Given the description of an element on the screen output the (x, y) to click on. 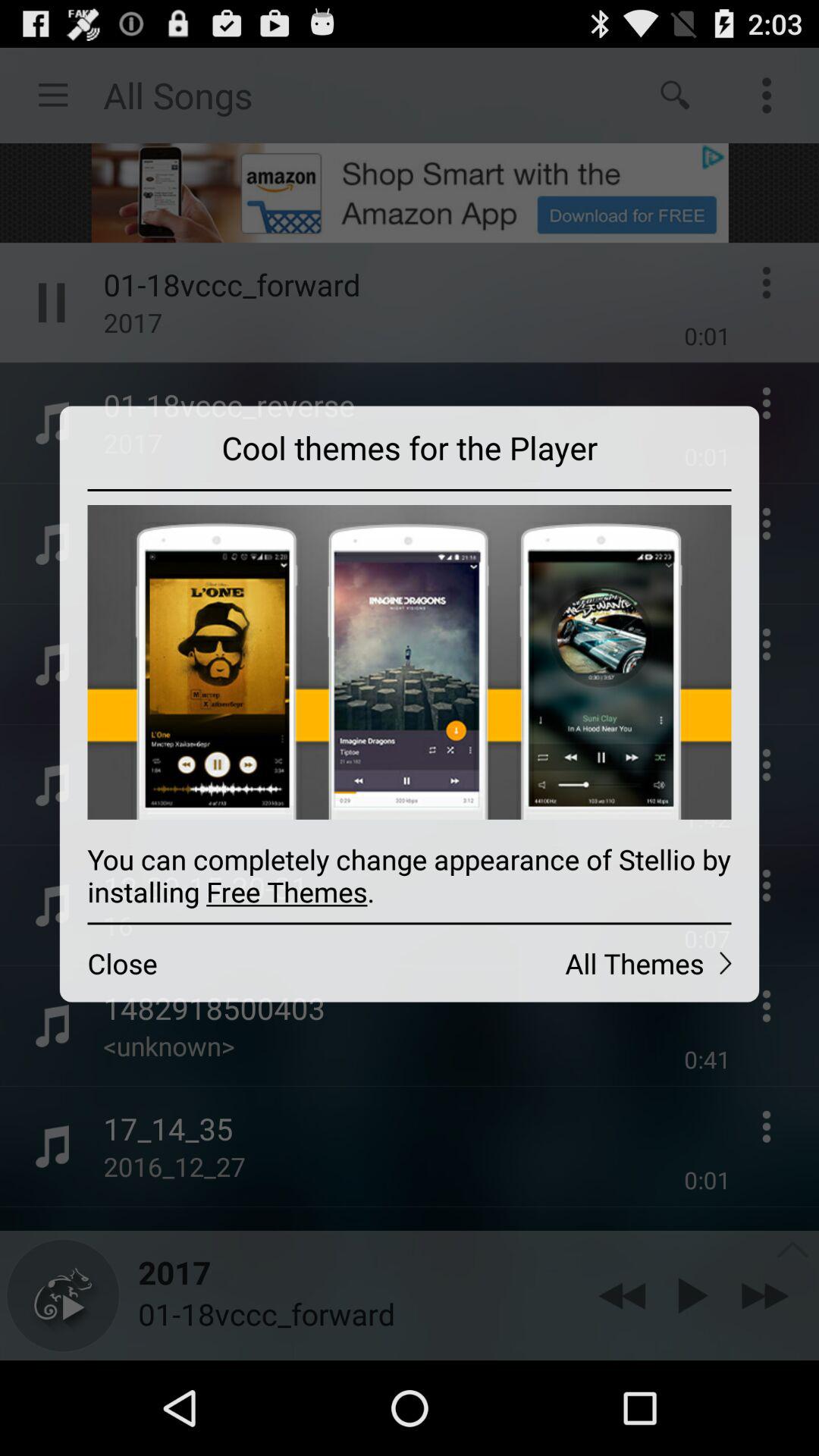
tap icon next to the all themes (234, 963)
